Given the description of an element on the screen output the (x, y) to click on. 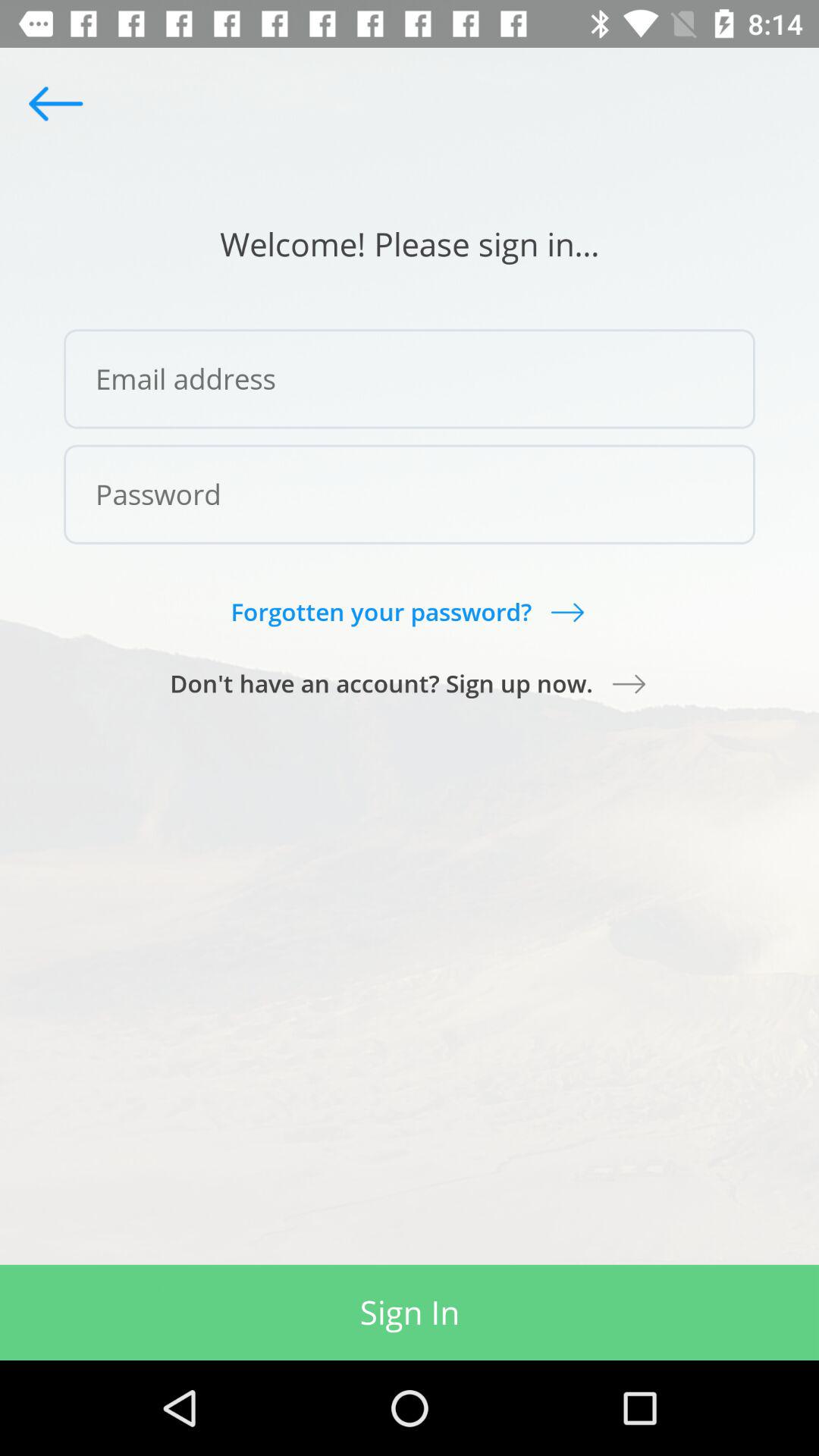
choose item below the forgotten your password? (409, 683)
